Given the description of an element on the screen output the (x, y) to click on. 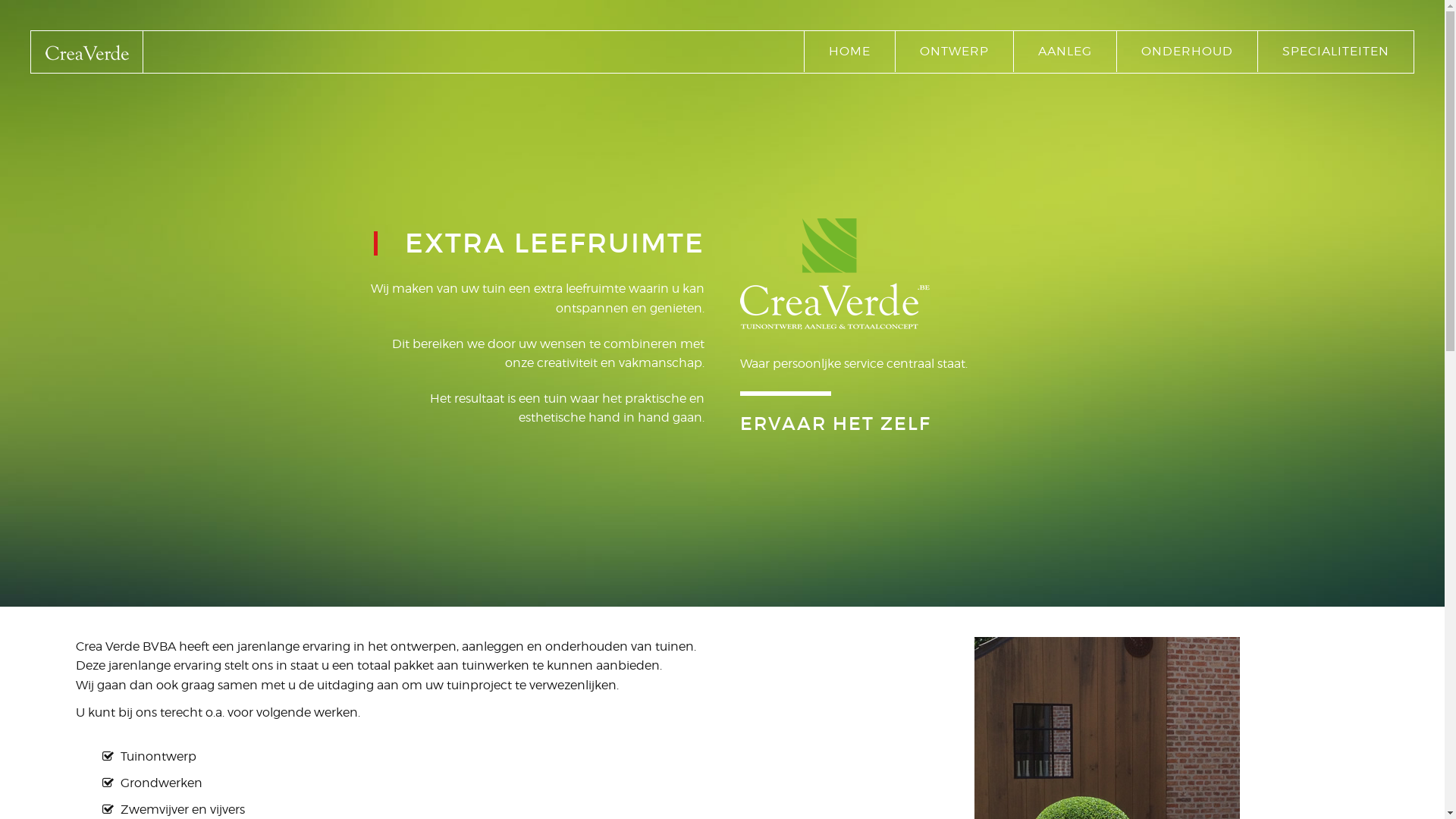
ONTWERP Element type: text (953, 51)
SPECIALITEITEN Element type: text (1335, 51)
Crea Verde Element type: text (86, 52)
HOME Element type: text (849, 51)
ONDERHOUD Element type: text (1187, 51)
AANLEG Element type: text (1065, 51)
